Given the description of an element on the screen output the (x, y) to click on. 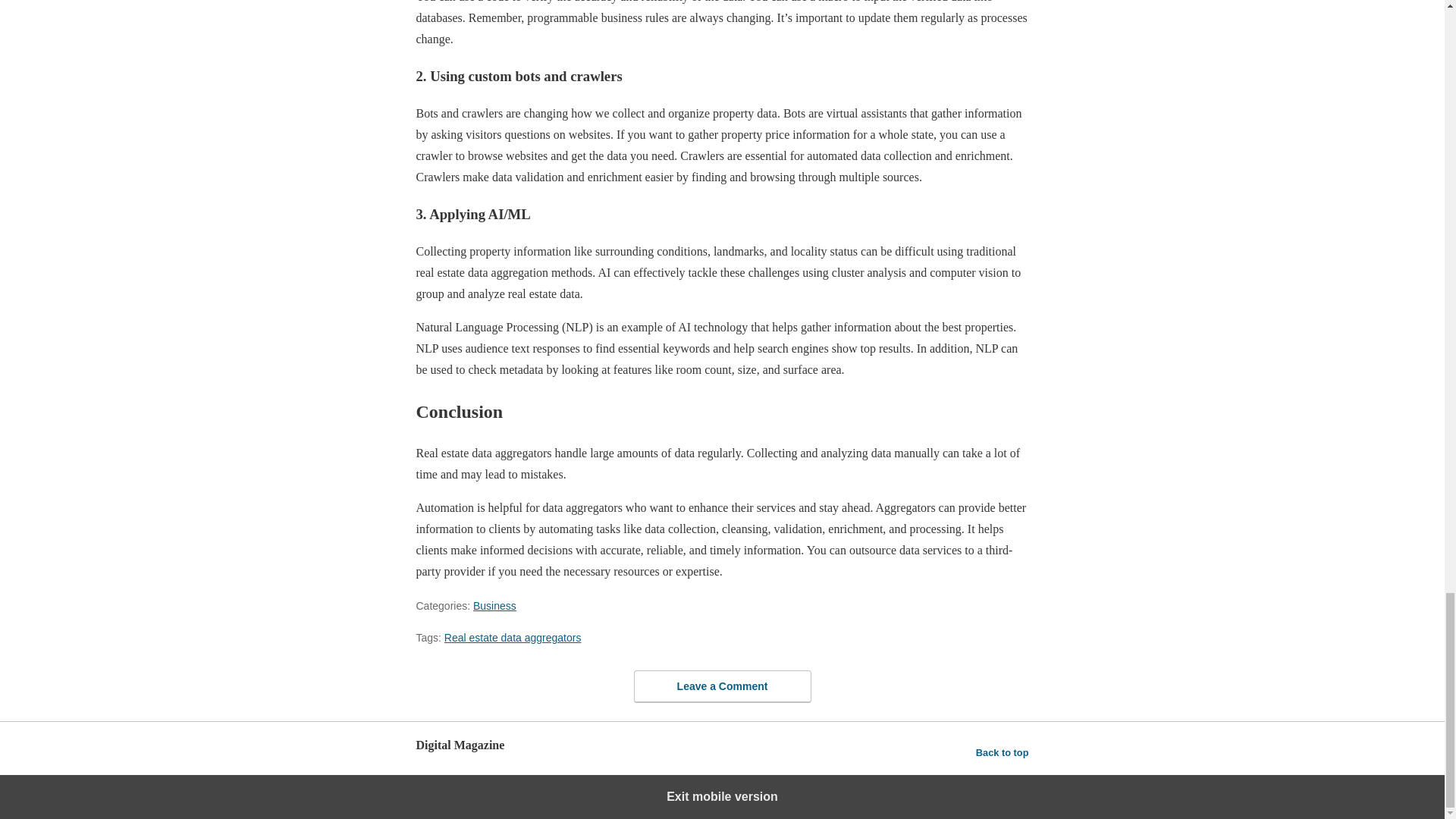
Back to top (1002, 752)
Real estate data aggregators (512, 637)
Business (494, 605)
Leave a Comment (721, 686)
